Given the description of an element on the screen output the (x, y) to click on. 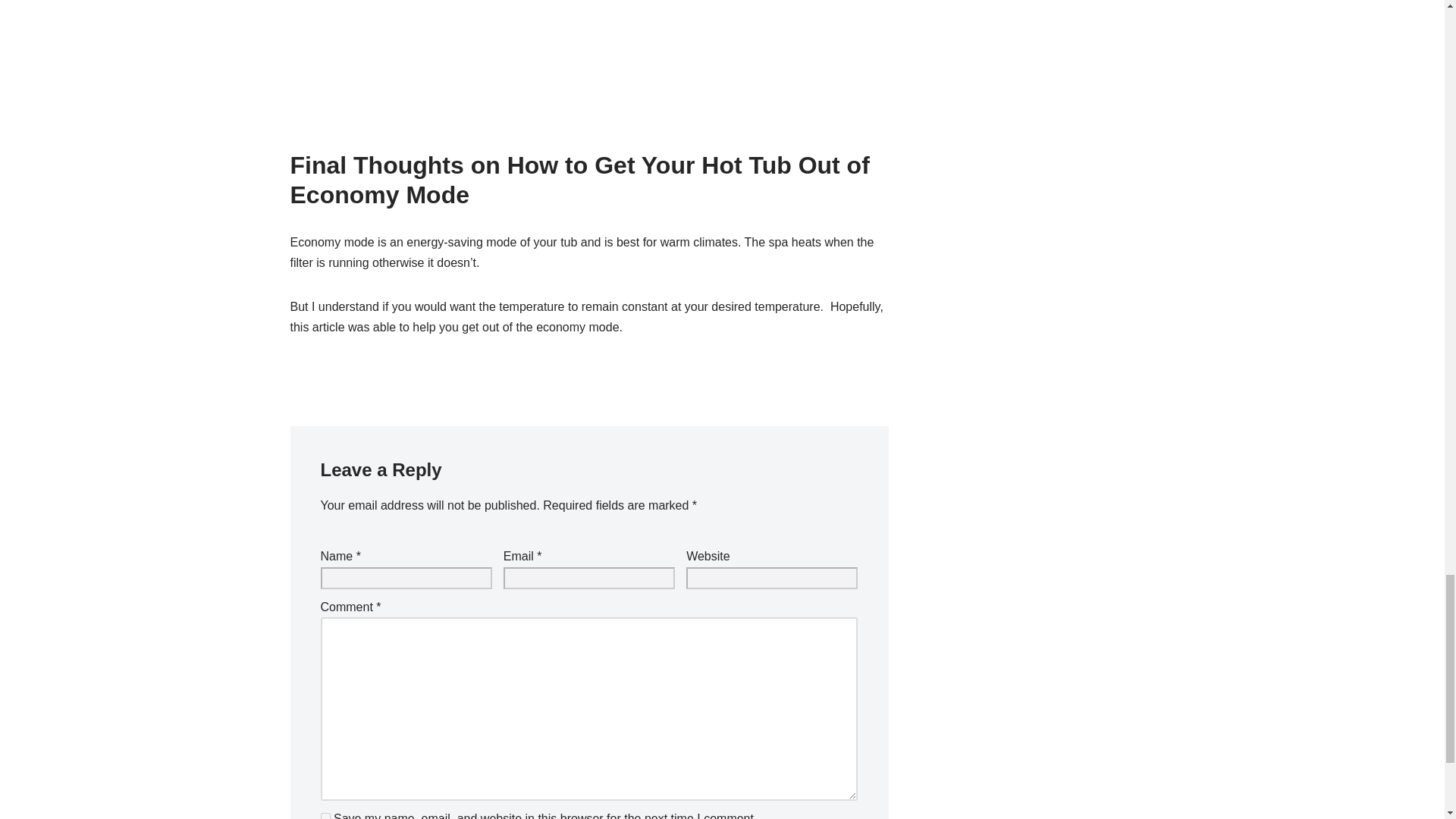
yes (325, 816)
